Given the description of an element on the screen output the (x, y) to click on. 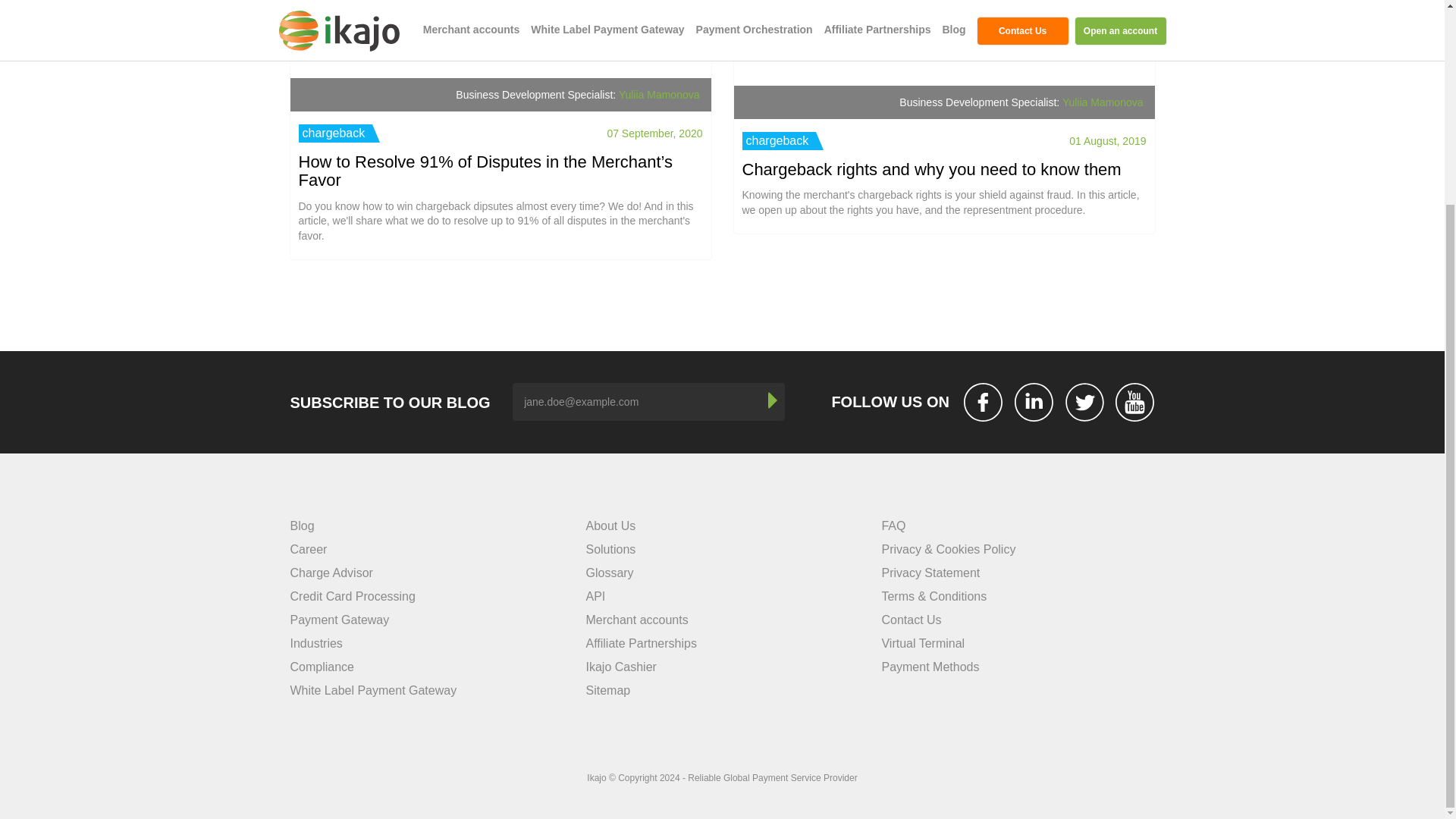
Career (307, 549)
Solutions (609, 549)
About Us (609, 525)
Glossary (609, 572)
Payment Gateway (338, 619)
About Us (609, 525)
Industries (315, 643)
Credit Card Processing (351, 595)
Merchant accounts (636, 619)
Career (307, 549)
Affiliate Partnerships (640, 643)
Compliance (321, 666)
Solutions (609, 549)
API (595, 595)
Ikajo Cashier (620, 666)
